Given the description of an element on the screen output the (x, y) to click on. 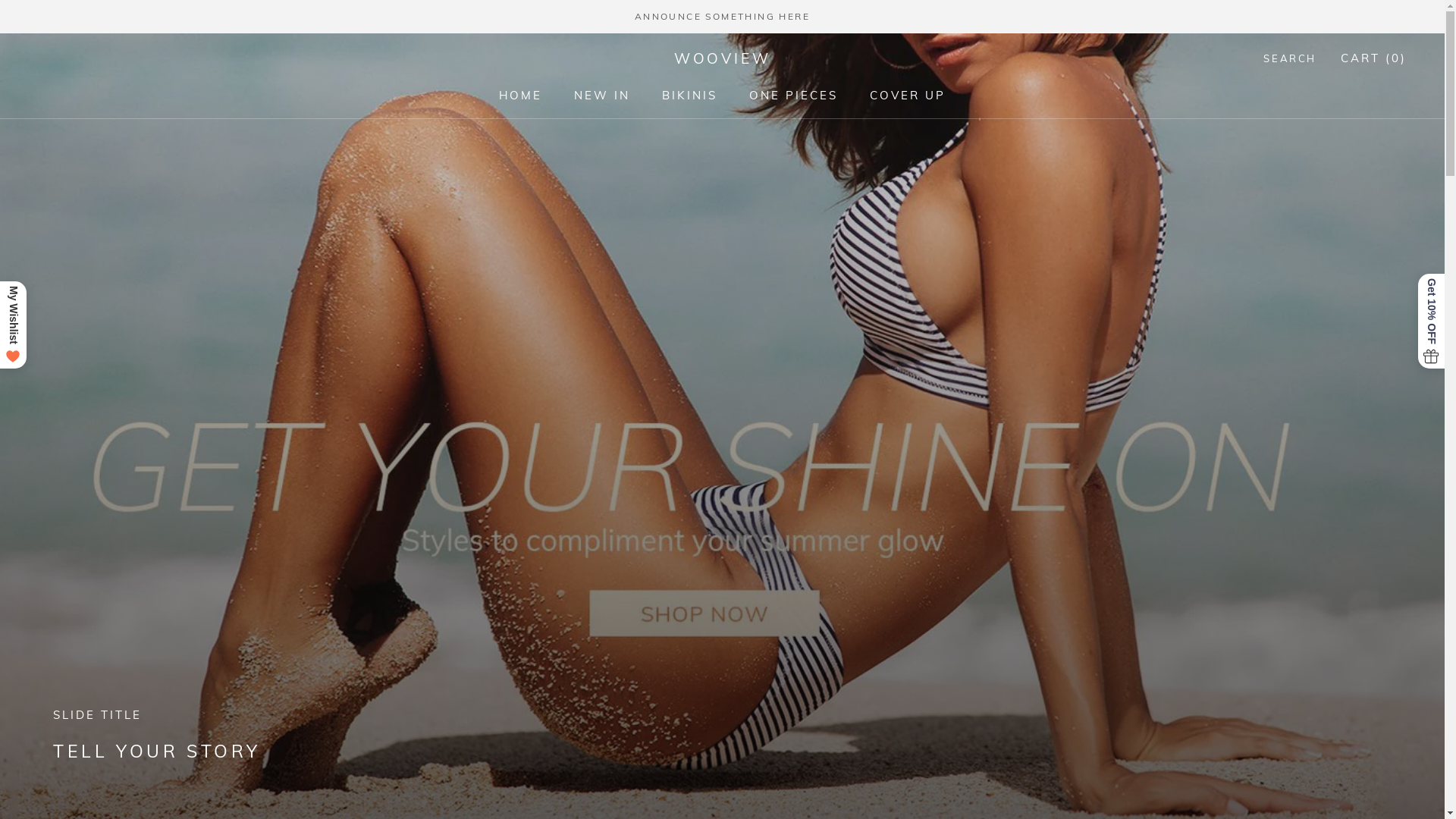
CART (0) Element type: text (1373, 57)
COVER UP
COVER UP Element type: text (907, 94)
BIKINIS
BIKINIS Element type: text (689, 94)
NEW IN
NEW IN Element type: text (602, 94)
ONE PIECES
ONE PIECES Element type: text (793, 94)
WOOVIEW Element type: text (722, 58)
SEARCH Element type: text (1289, 58)
HOME
HOME Element type: text (520, 94)
